Given the description of an element on the screen output the (x, y) to click on. 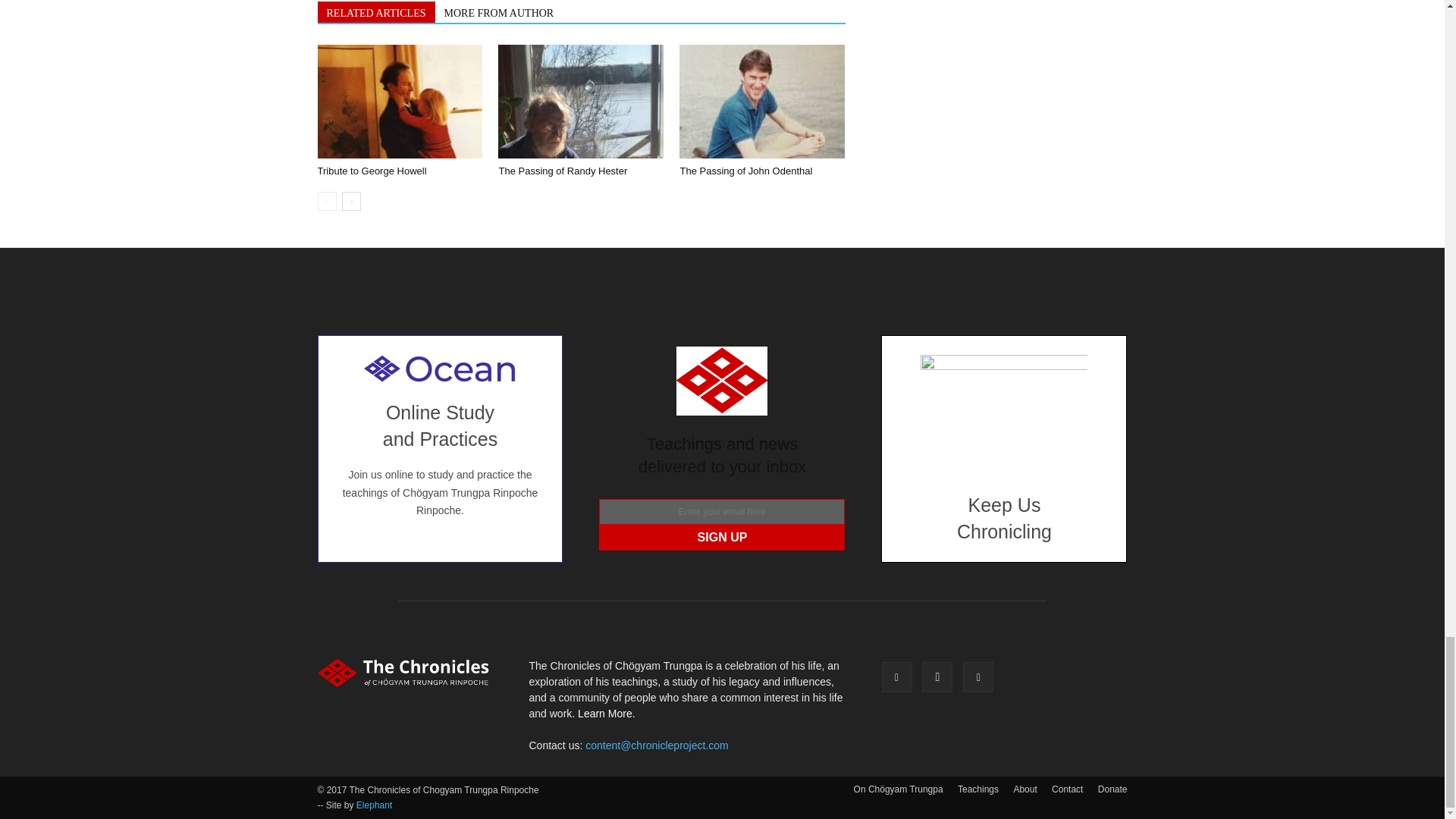
Sign up (721, 537)
